Given the description of an element on the screen output the (x, y) to click on. 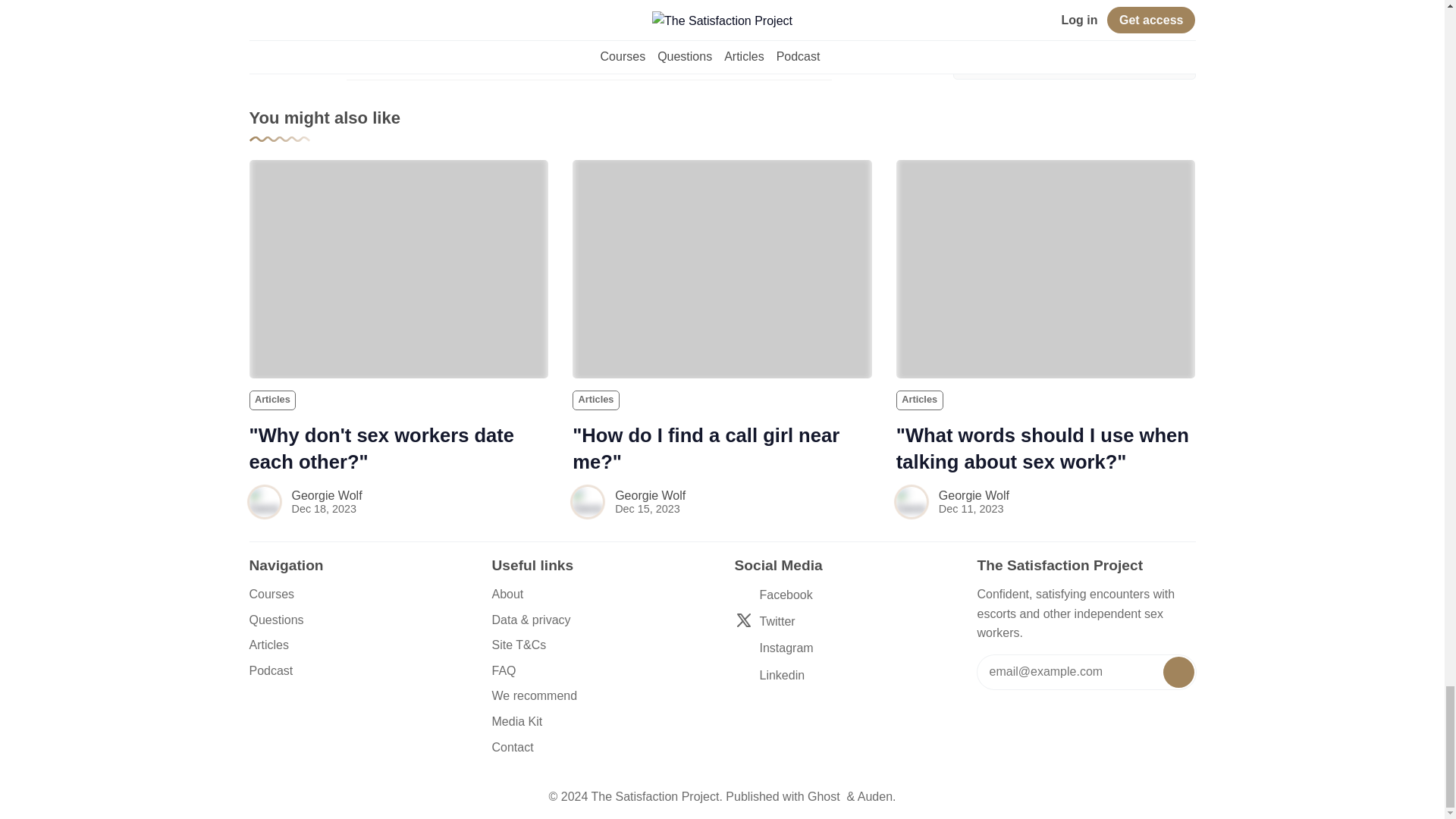
Articles (271, 399)
"Why don't sex workers date each other?" (398, 267)
